Given the description of an element on the screen output the (x, y) to click on. 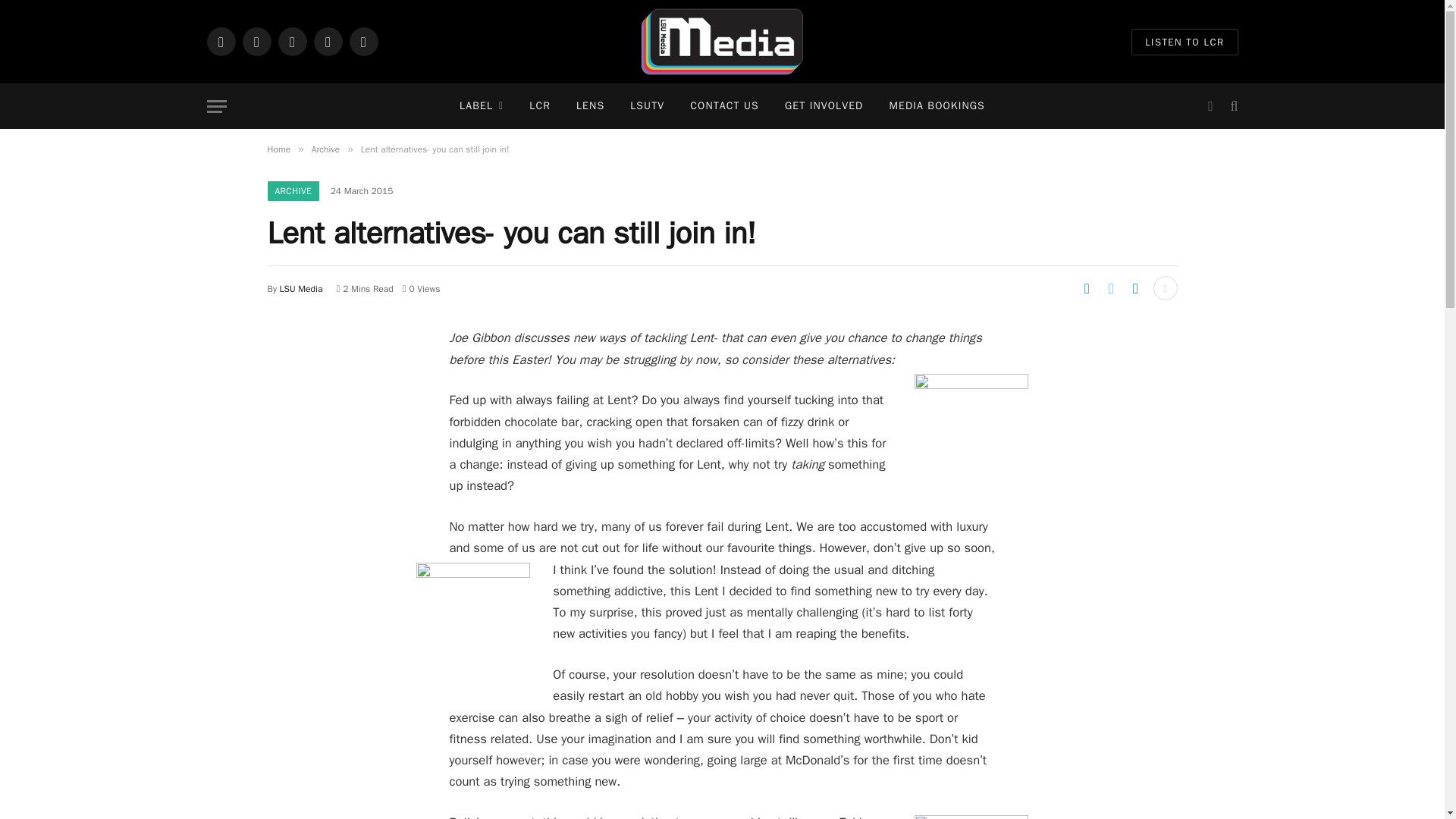
LISTEN TO LCR (1184, 41)
Switch to Dark Design - easier on eyes. (1209, 106)
LSU Media (722, 41)
Facebook (220, 41)
TikTok (328, 41)
YouTube (363, 41)
LABEL (481, 105)
Instagram (256, 41)
